Given the description of an element on the screen output the (x, y) to click on. 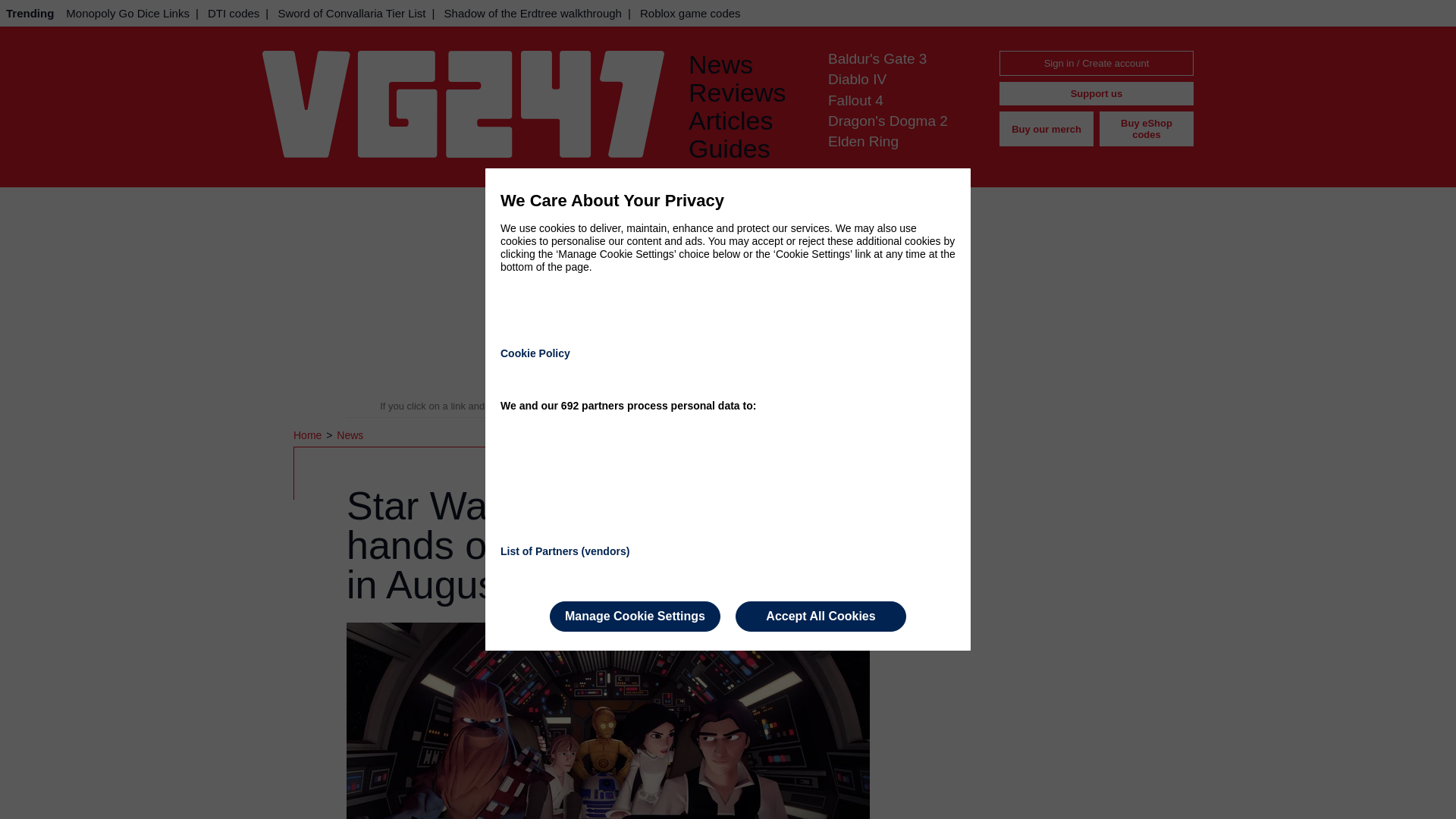
Buy eShop codes (1146, 128)
DTI codes (233, 13)
Elden Ring (863, 141)
Sword of Convallaria Tier List (350, 13)
News (349, 435)
Shadow of the Erdtree walkthrough (532, 13)
Reviews (745, 92)
Baldur's Gate 3 (877, 58)
Fallout 4 (855, 100)
Roblox game codes (689, 13)
